Given the description of an element on the screen output the (x, y) to click on. 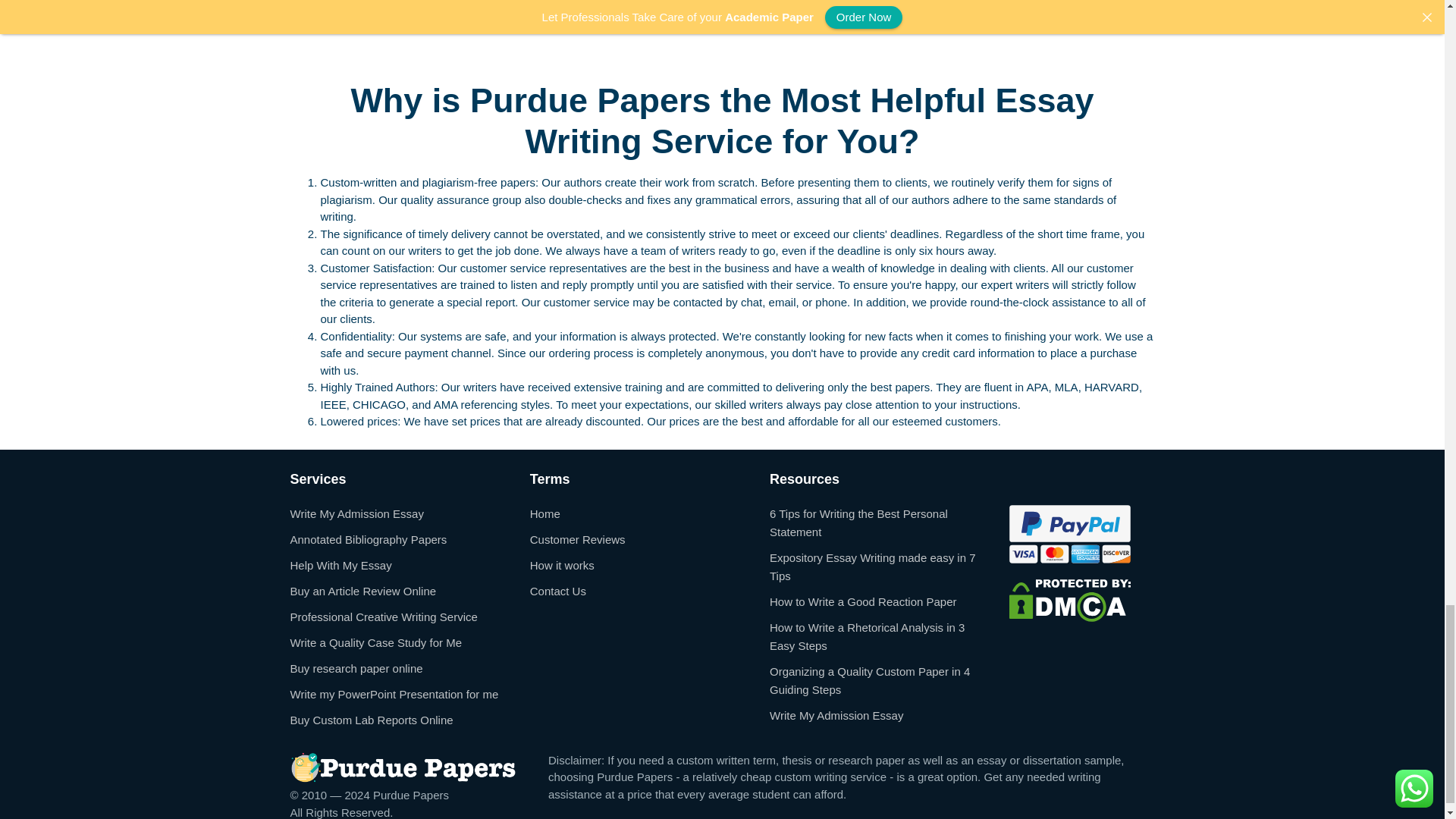
Help With My Essay (340, 563)
Annotated Bibliography Papers (367, 538)
Read more (329, 26)
Buy an Article Review Online (362, 590)
Write My Admission Essay (356, 512)
Read more (629, 26)
DMCA (1070, 599)
